Given the description of an element on the screen output the (x, y) to click on. 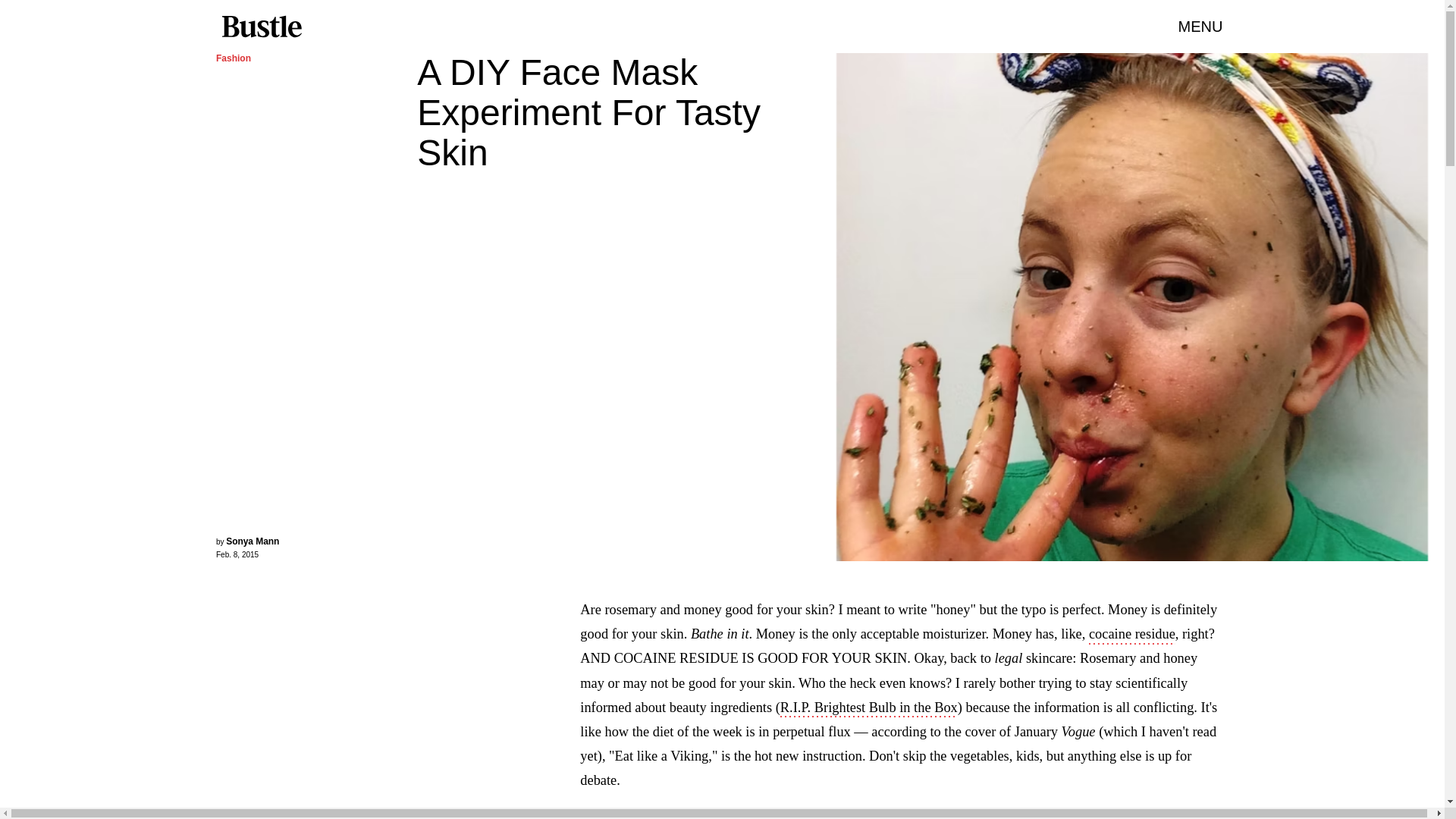
R.I.P. Brightest Bulb in the Box (869, 709)
cocaine residue (1131, 635)
Bustle (261, 26)
